Given the description of an element on the screen output the (x, y) to click on. 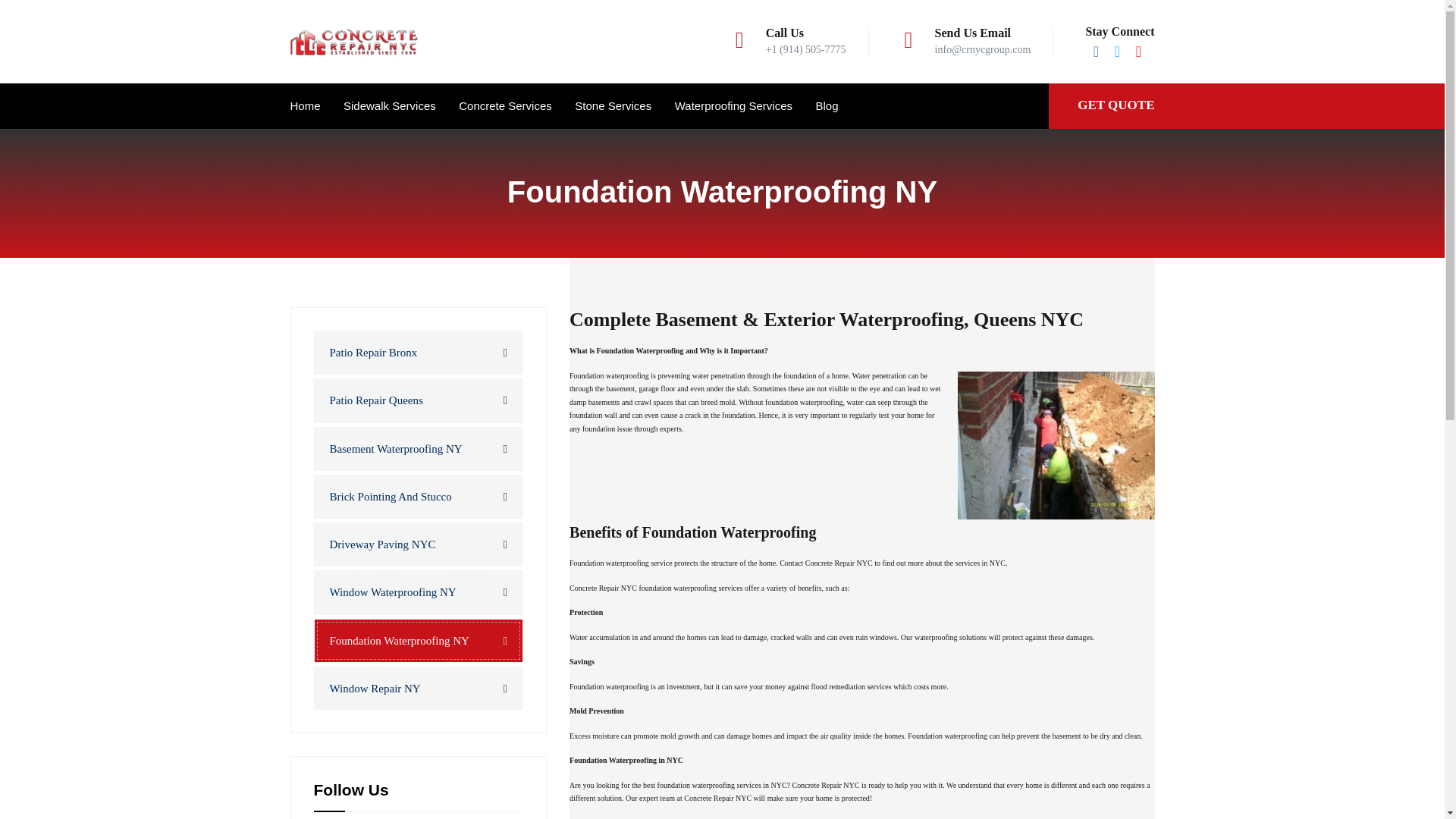
Stone Services (612, 105)
Concrete Repair NYC (352, 41)
Patio Repair Queens (418, 400)
Patio Repair Bronx (418, 352)
Sidewalk Services (389, 105)
GET QUOTE (1115, 104)
Waterproofing Services (733, 105)
Concrete Services (504, 105)
